Given the description of an element on the screen output the (x, y) to click on. 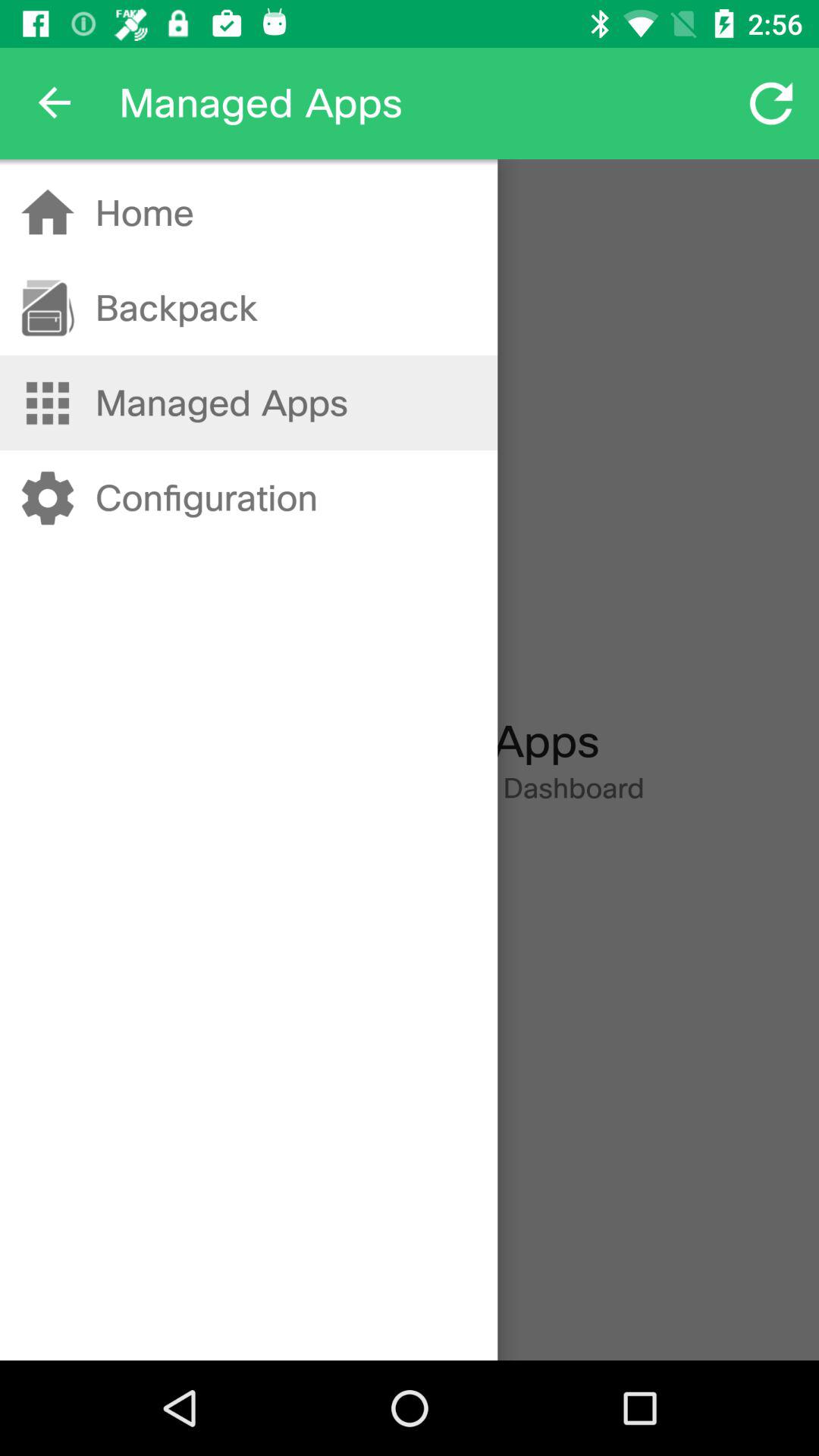
press the item below home (176, 307)
